Given the description of an element on the screen output the (x, y) to click on. 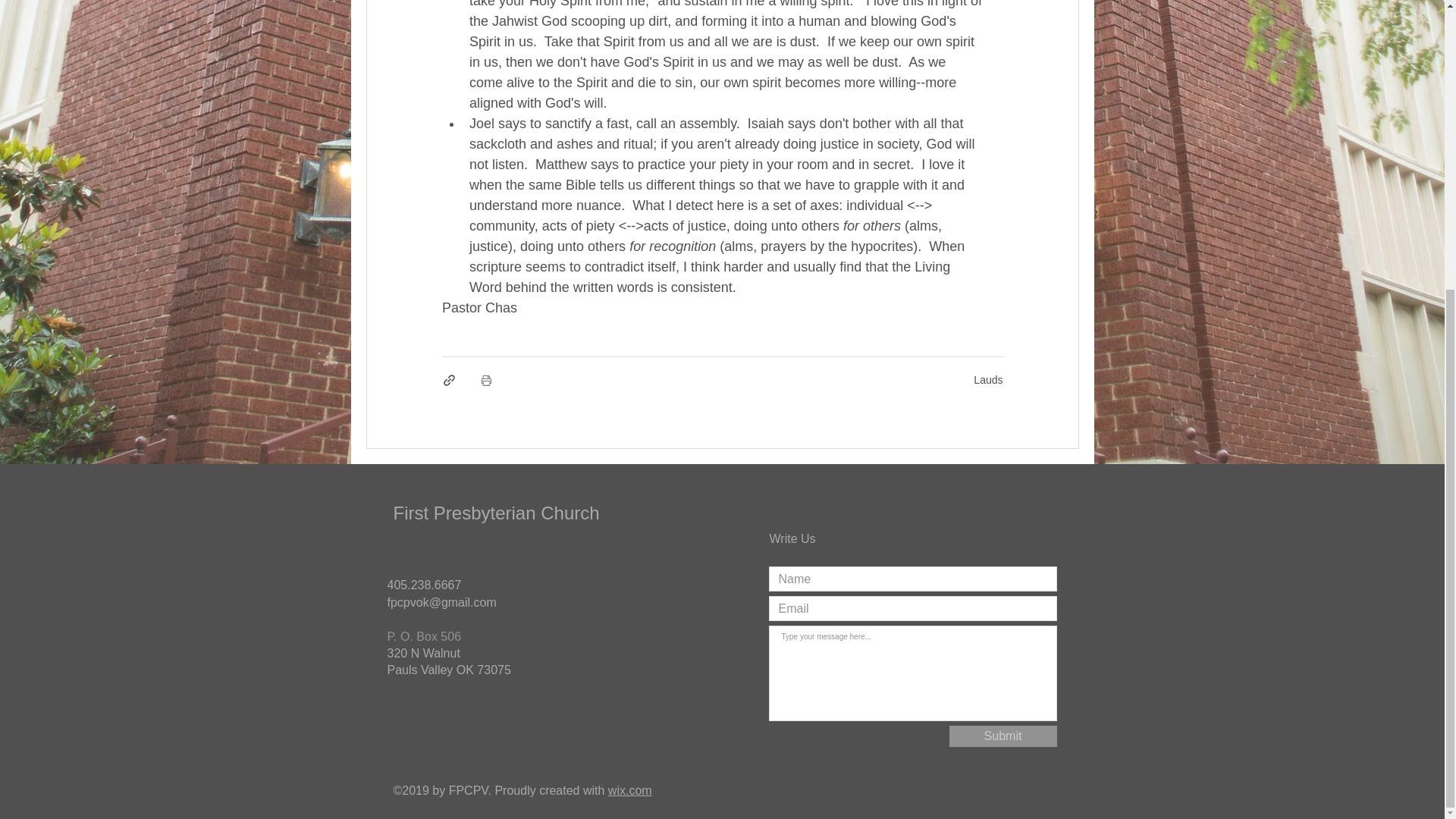
wix.com (630, 789)
Submit (1003, 735)
Lauds (988, 379)
